Given the description of an element on the screen output the (x, y) to click on. 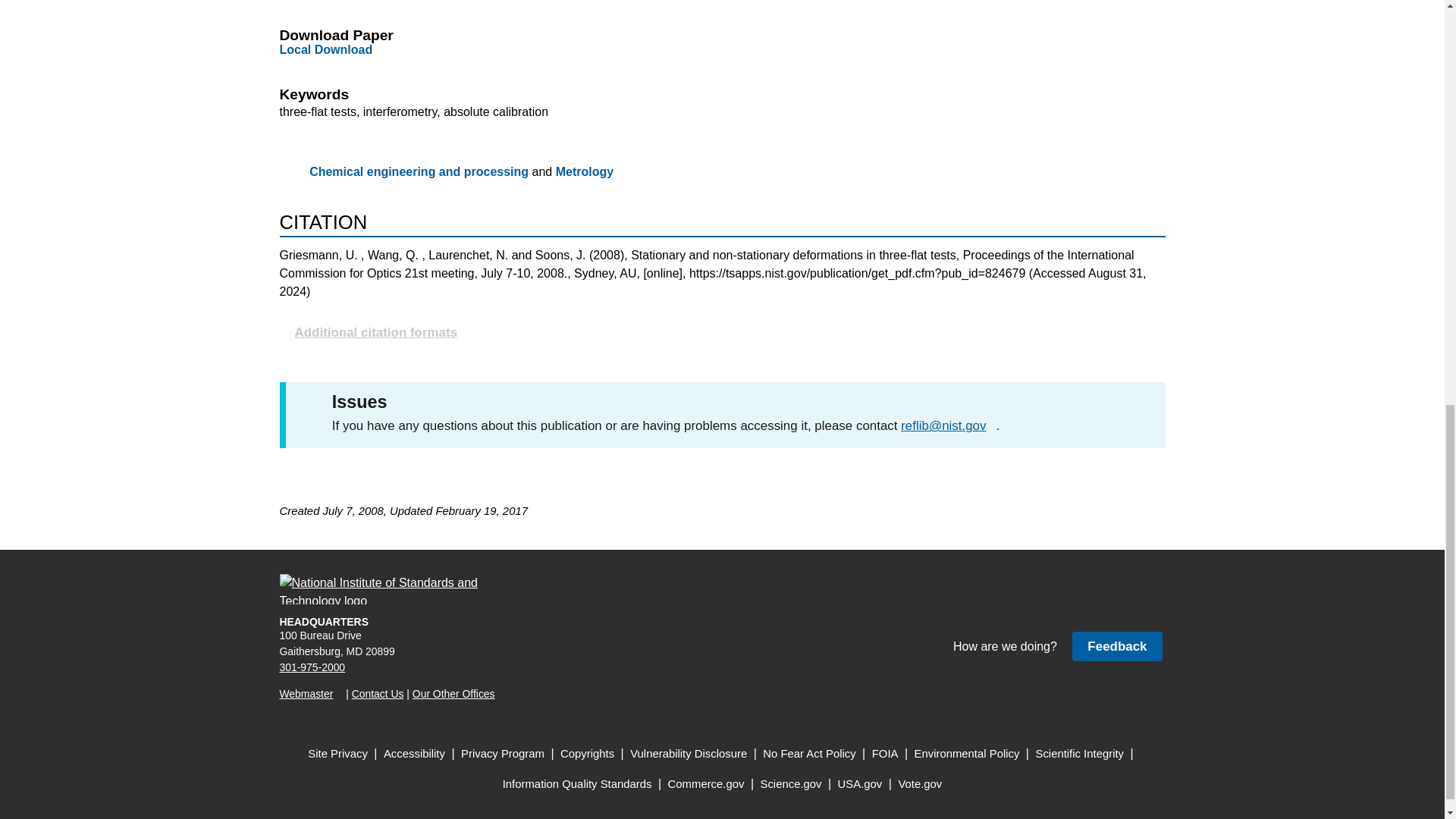
Chemical engineering and processing (418, 171)
Site Privacy (337, 753)
Metrology (584, 171)
Additional citation formats (721, 332)
Our Other Offices (453, 693)
Copyrights (587, 753)
Vulnerability Disclosure (688, 753)
Contact Us (378, 693)
301-975-2000 (312, 666)
Feedback (1116, 645)
